Given the description of an element on the screen output the (x, y) to click on. 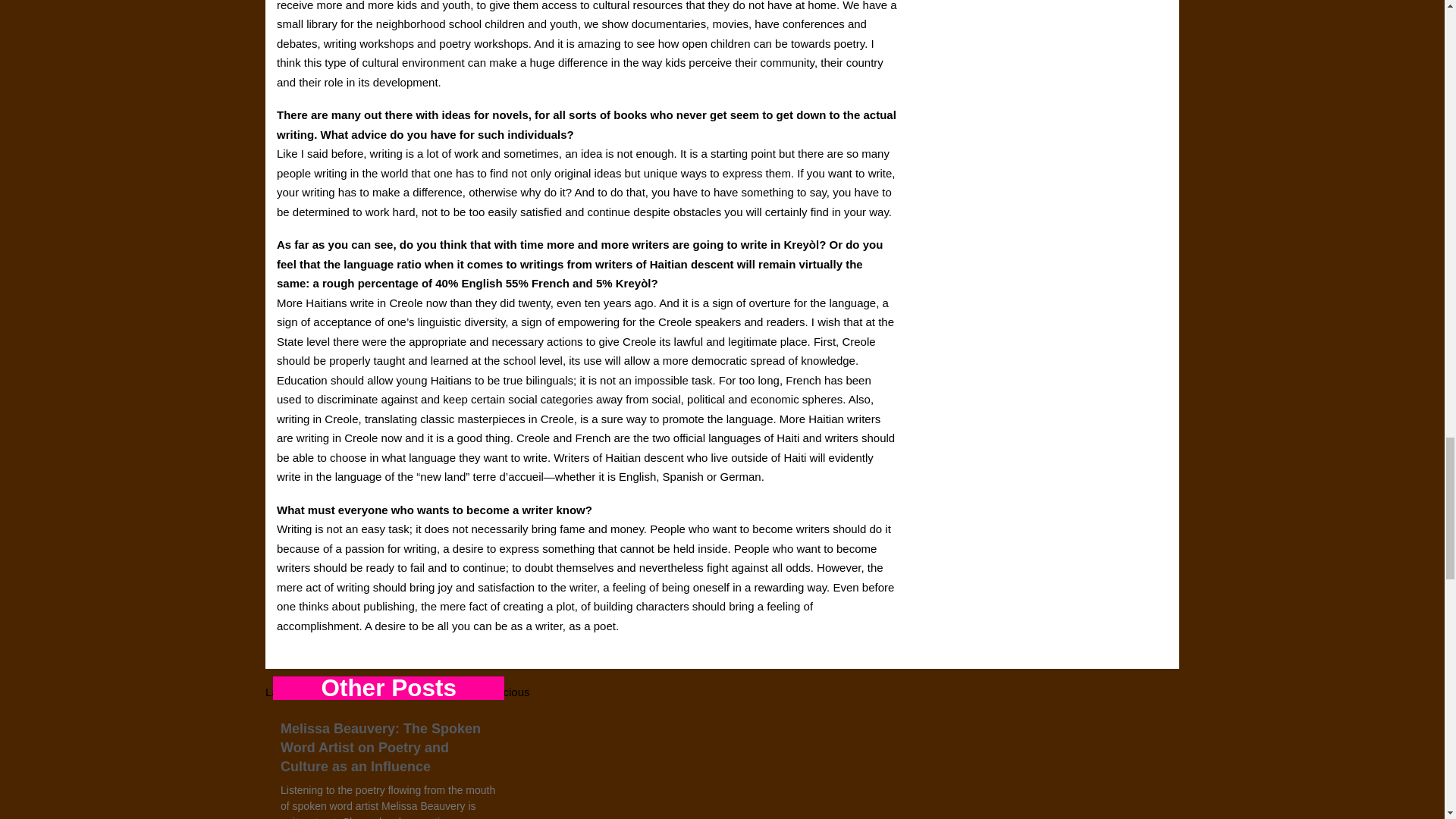
kreyolicious (499, 691)
